Given the description of an element on the screen output the (x, y) to click on. 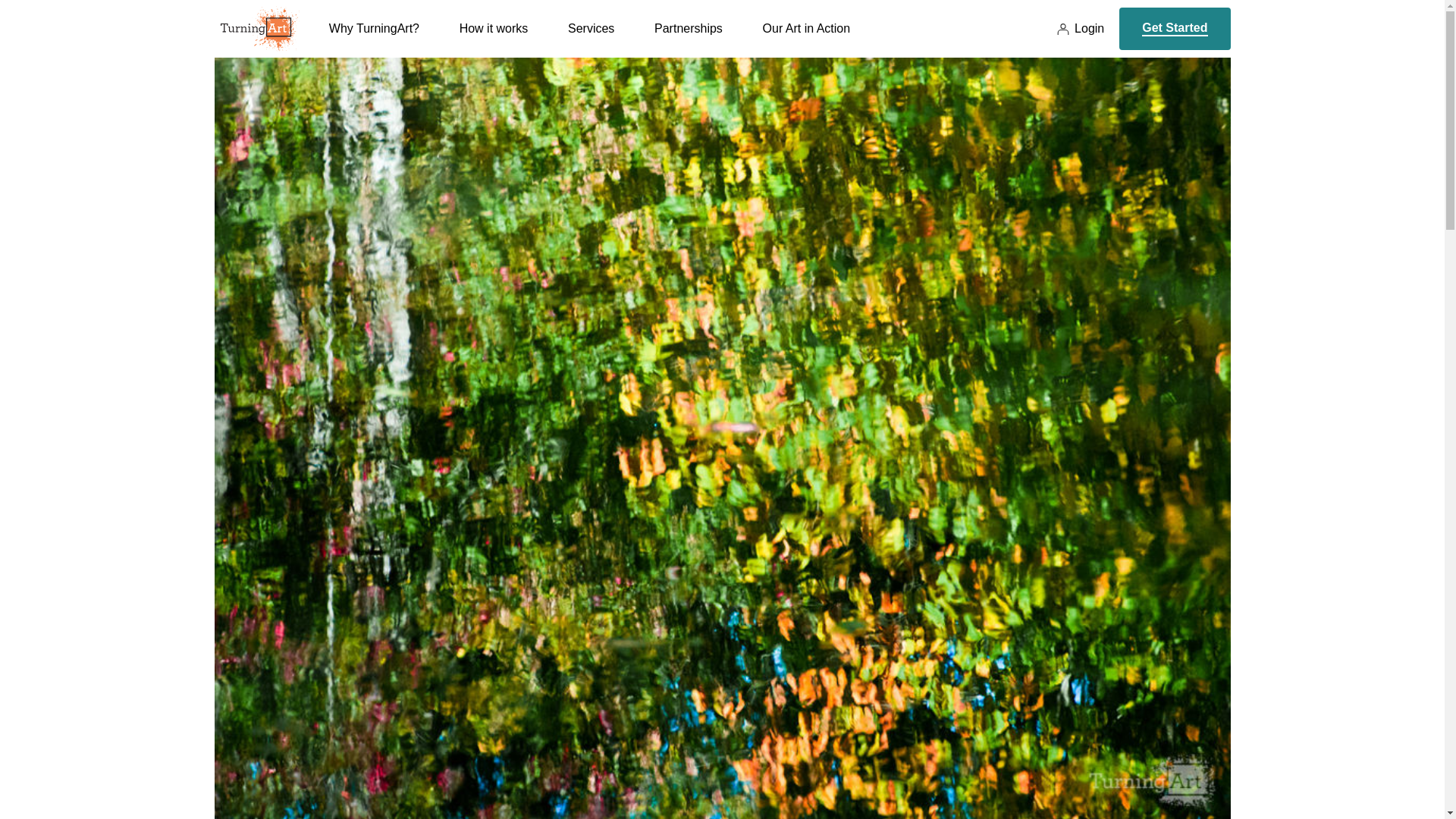
Our Art in Action (806, 38)
How it works (494, 38)
Partnerships (687, 38)
Services (590, 38)
Get Started (1174, 28)
Login (1080, 28)
Why TurningArt? (374, 38)
